Given the description of an element on the screen output the (x, y) to click on. 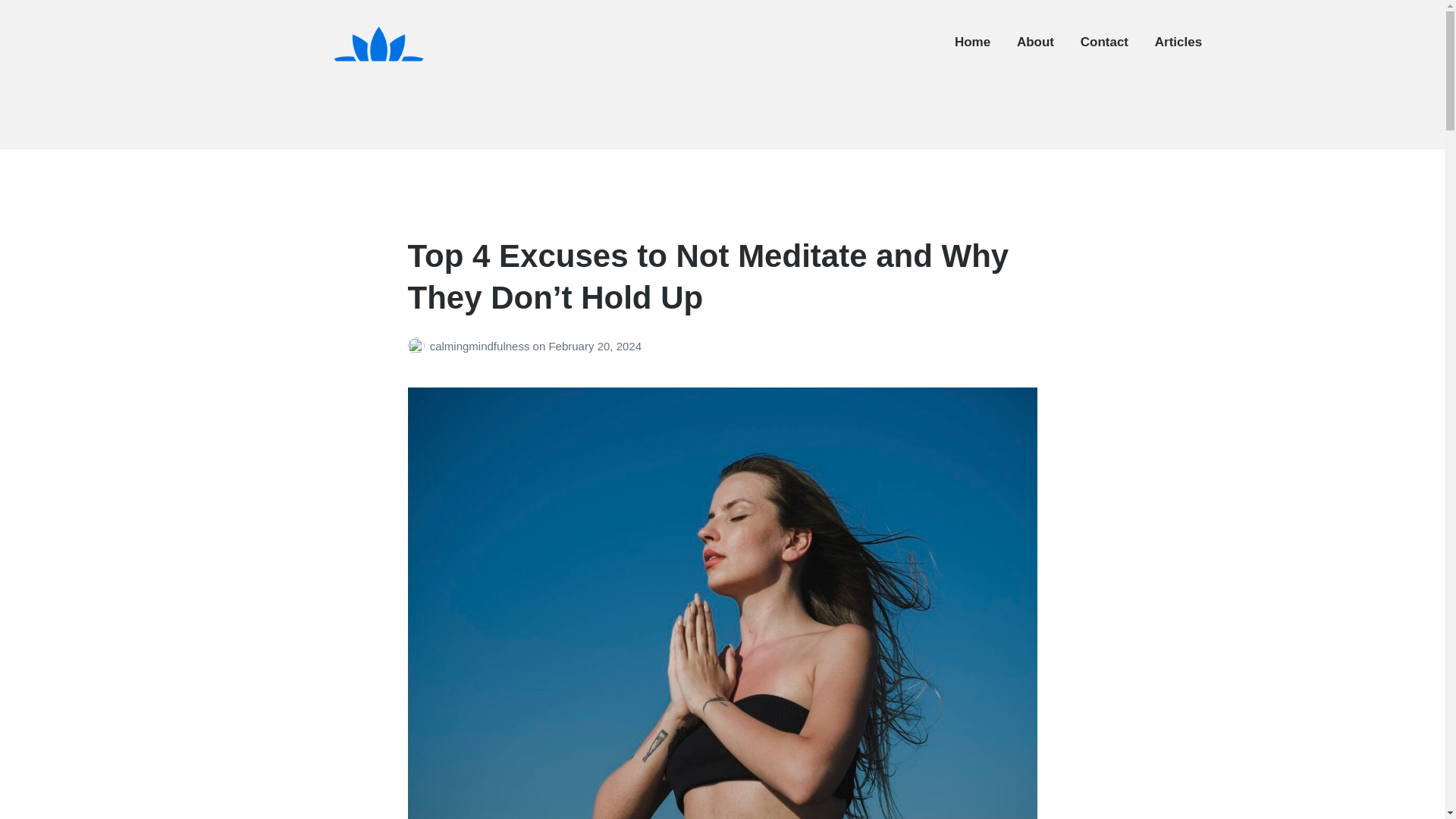
Home (972, 42)
calmingmindfulness (480, 345)
Calming Mindfulness (330, 137)
About (1035, 42)
Contact (1104, 42)
Articles (1178, 42)
Posts by calmingmindfulness (418, 345)
